Given the description of an element on the screen output the (x, y) to click on. 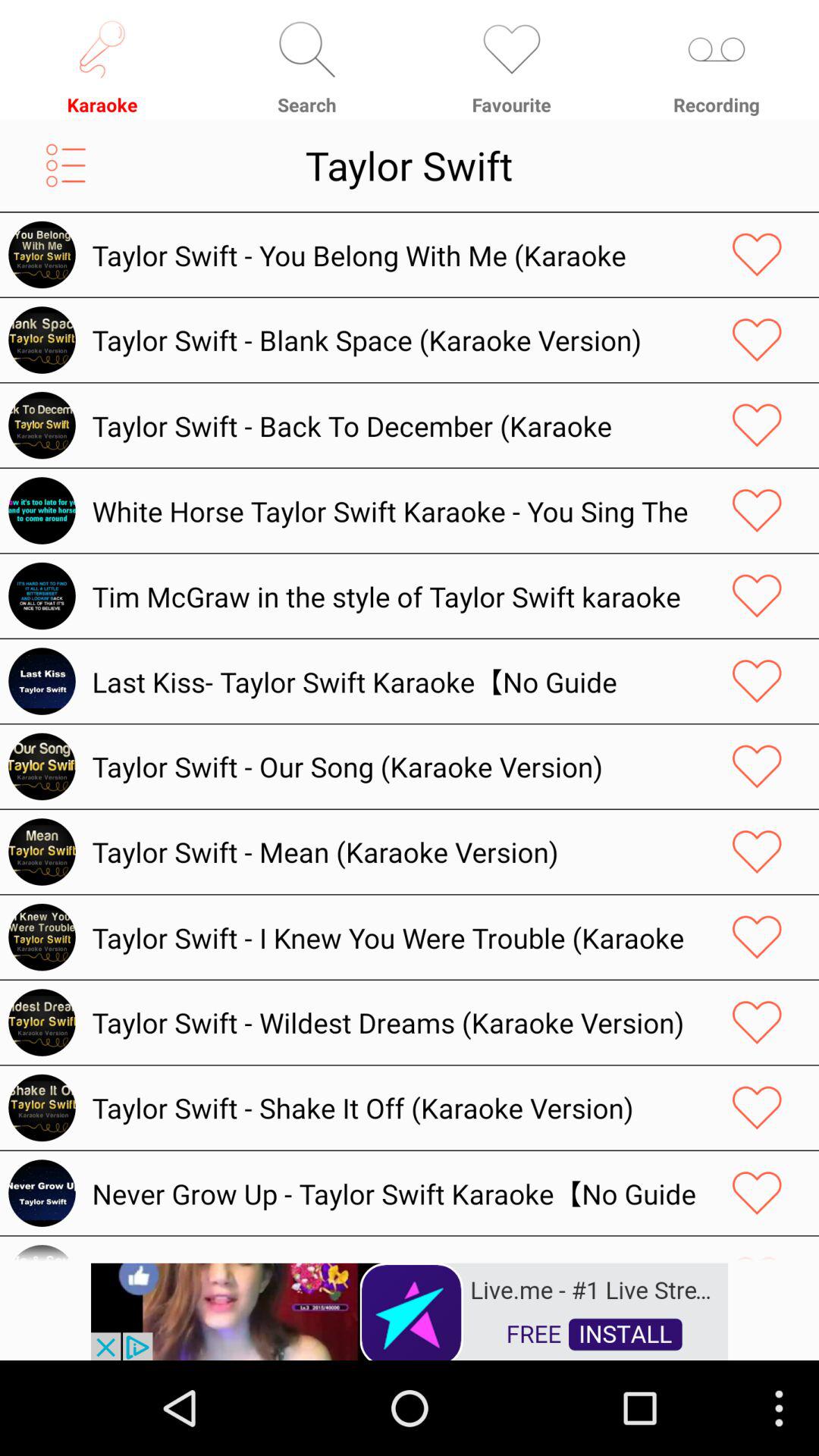
favorite option (756, 851)
